Given the description of an element on the screen output the (x, y) to click on. 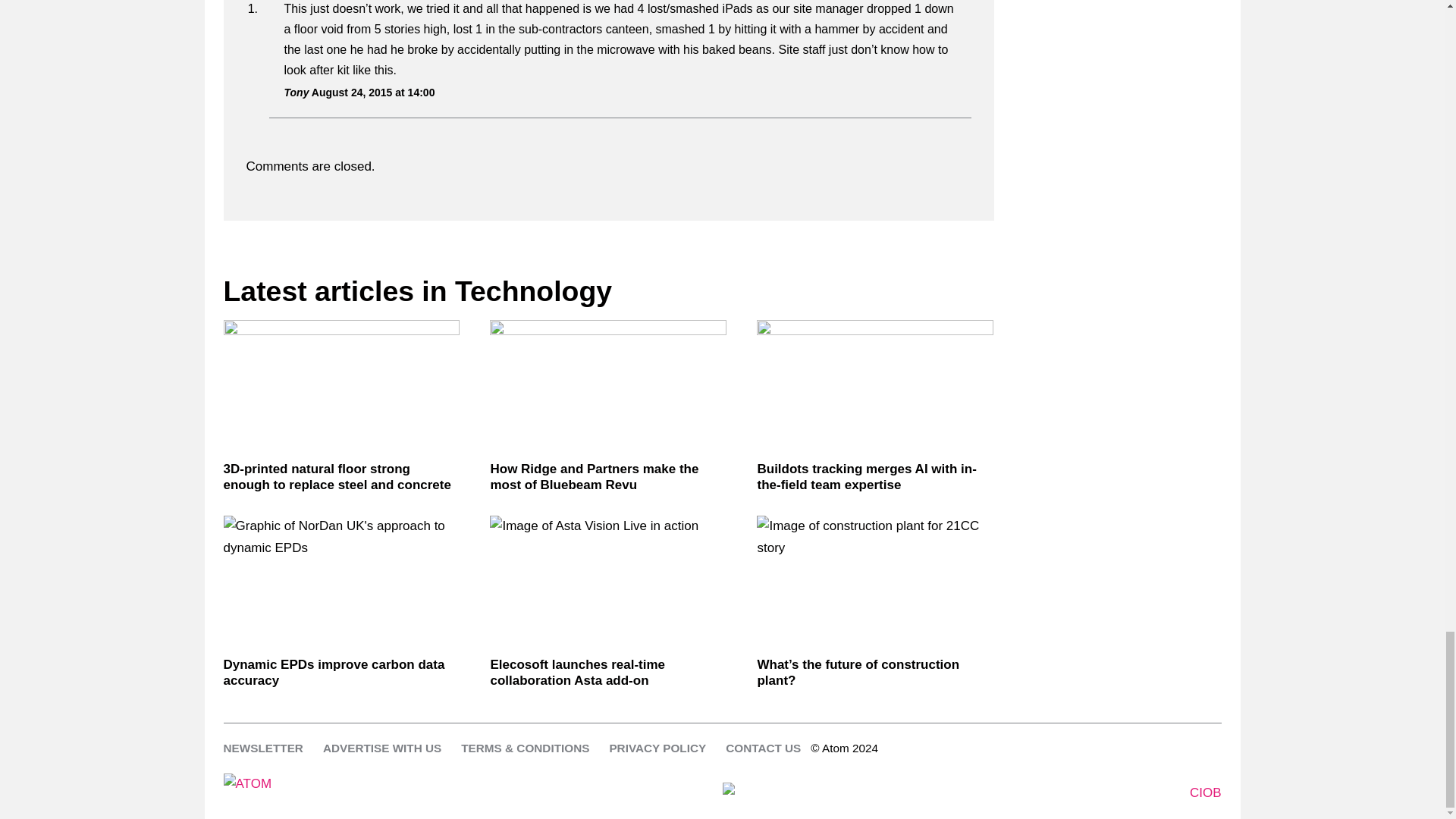
How Ridge and Partners make the most of Bluebeam Revu (607, 386)
How Ridge and Partners make the most of Bluebeam Revu (607, 477)
